Given the description of an element on the screen output the (x, y) to click on. 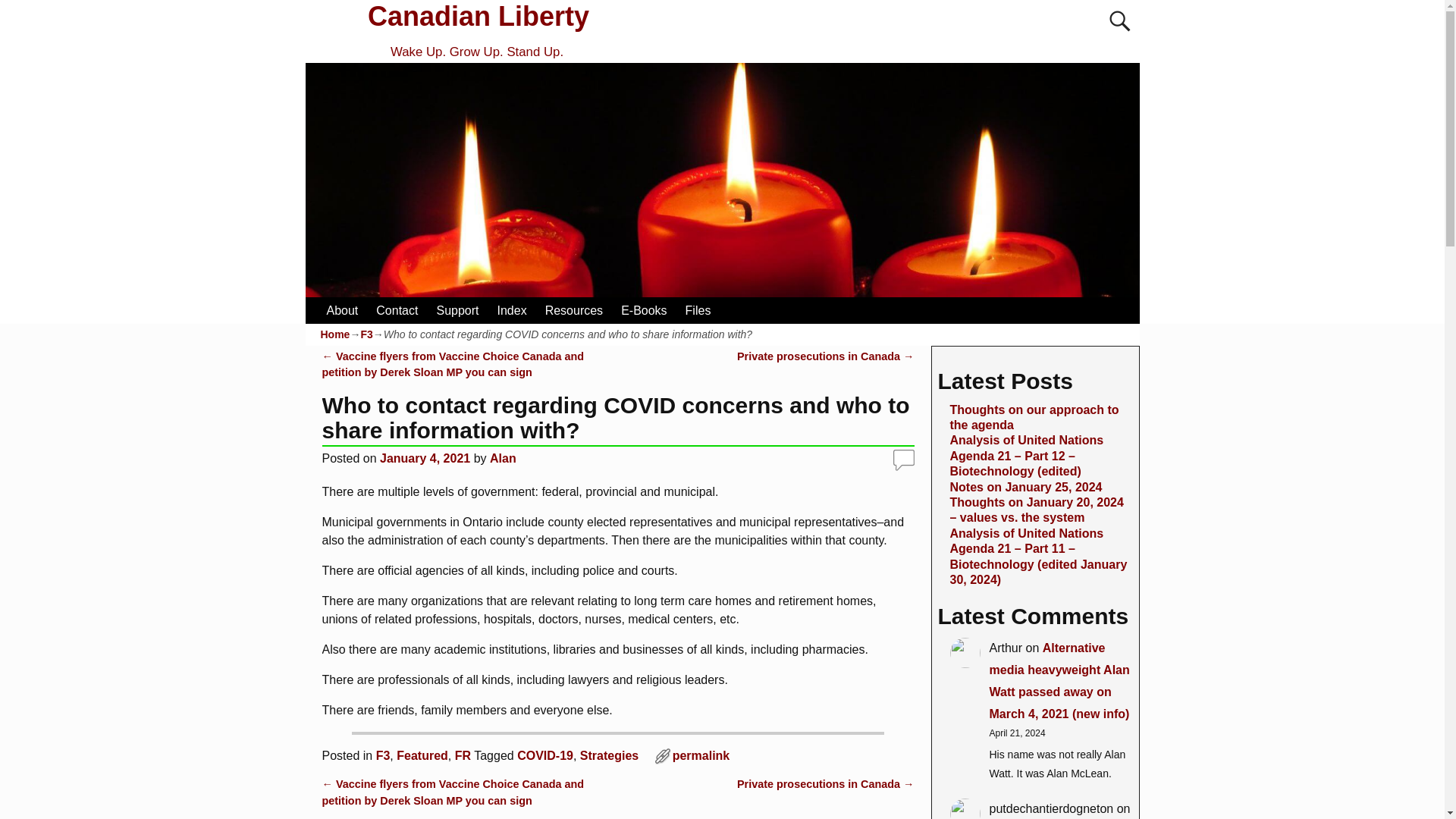
FR (462, 755)
Thoughts on our approach to the agenda (1033, 417)
View all posts by Alan (502, 458)
E-Books (643, 310)
Canadian Liberty (479, 15)
11:04 pm (425, 458)
January 4, 2021 (425, 458)
Resources (573, 310)
Index (511, 310)
